Given the description of an element on the screen output the (x, y) to click on. 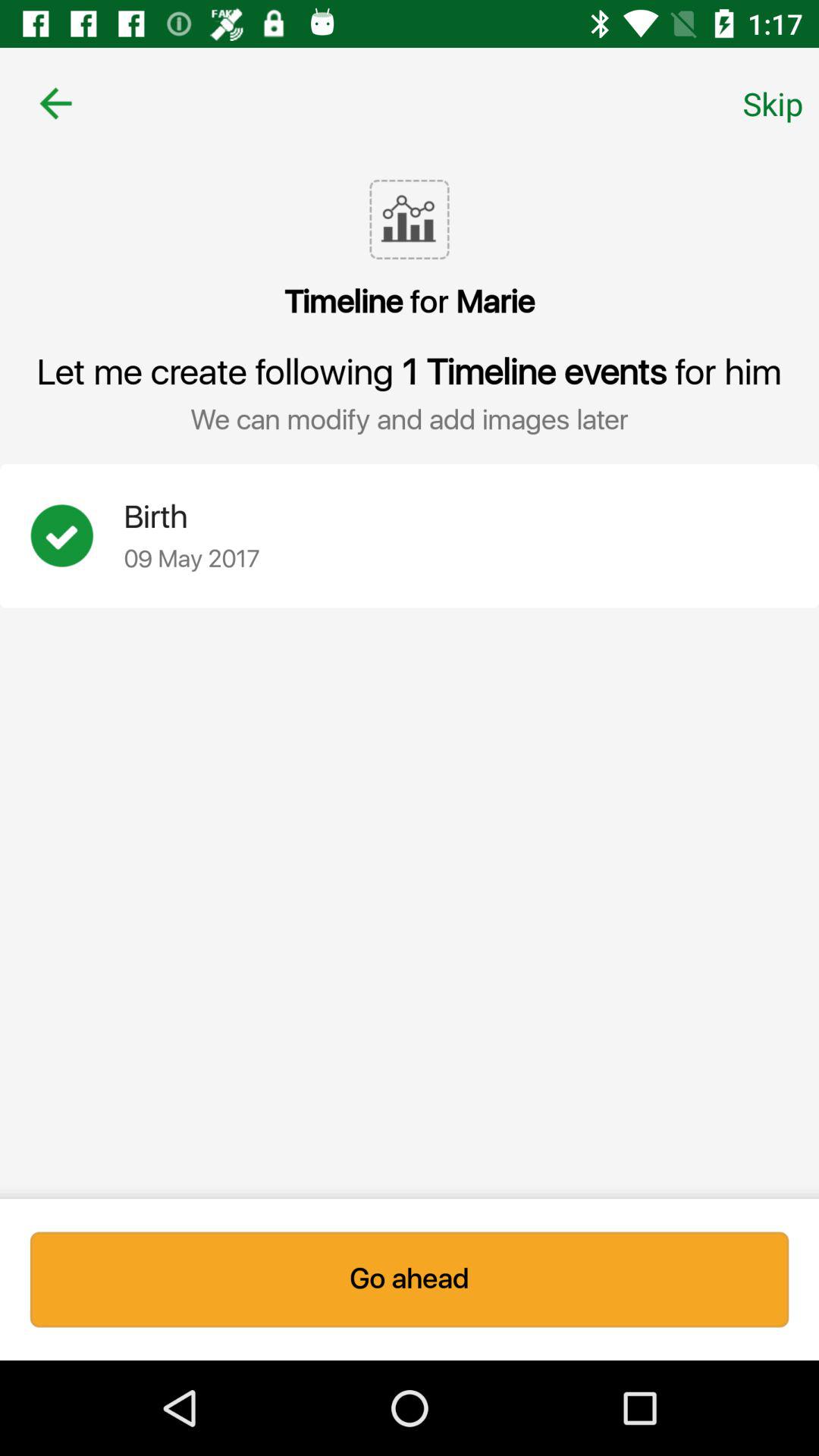
go back (55, 103)
